Given the description of an element on the screen output the (x, y) to click on. 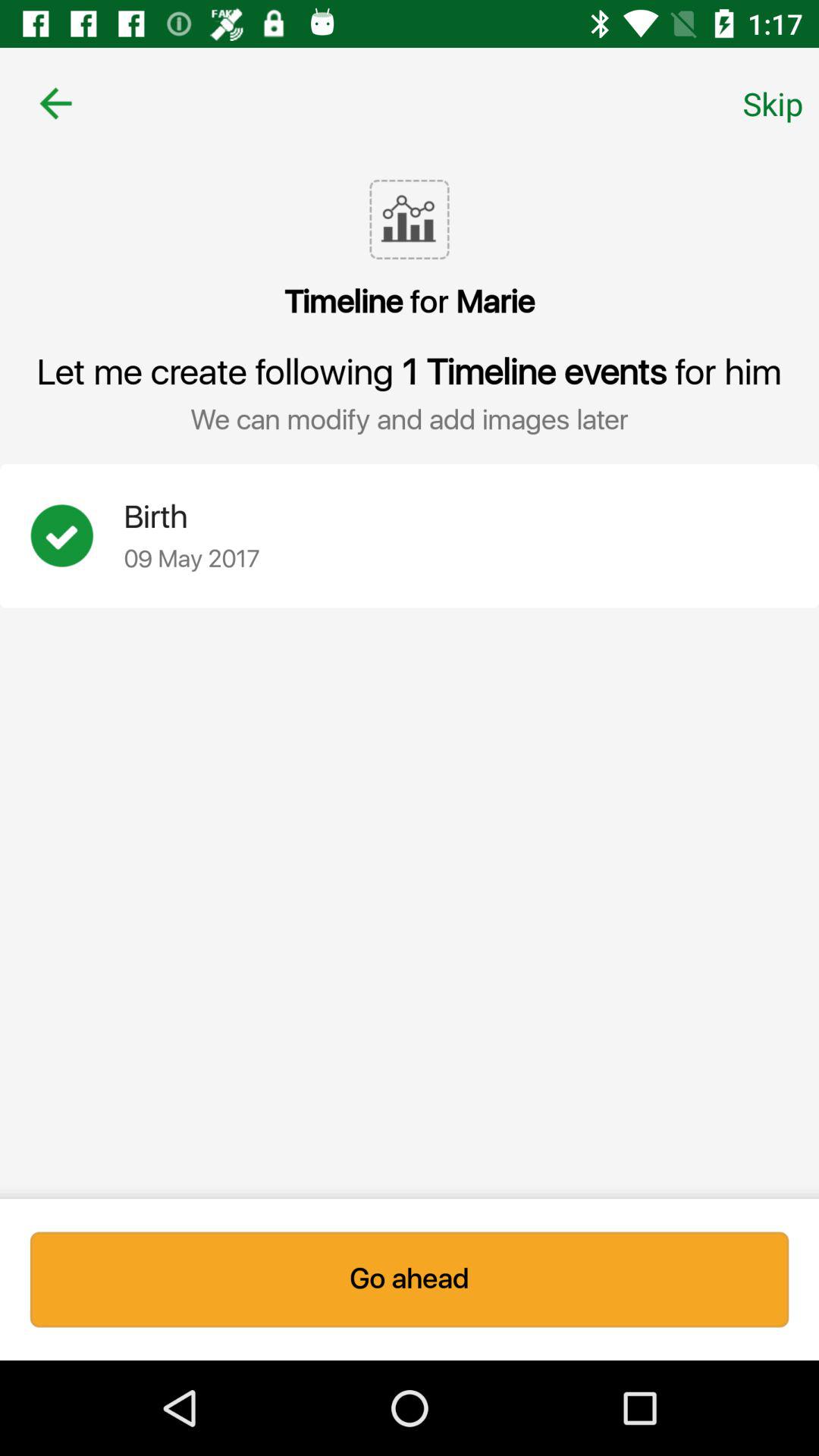
go back (55, 103)
